Given the description of an element on the screen output the (x, y) to click on. 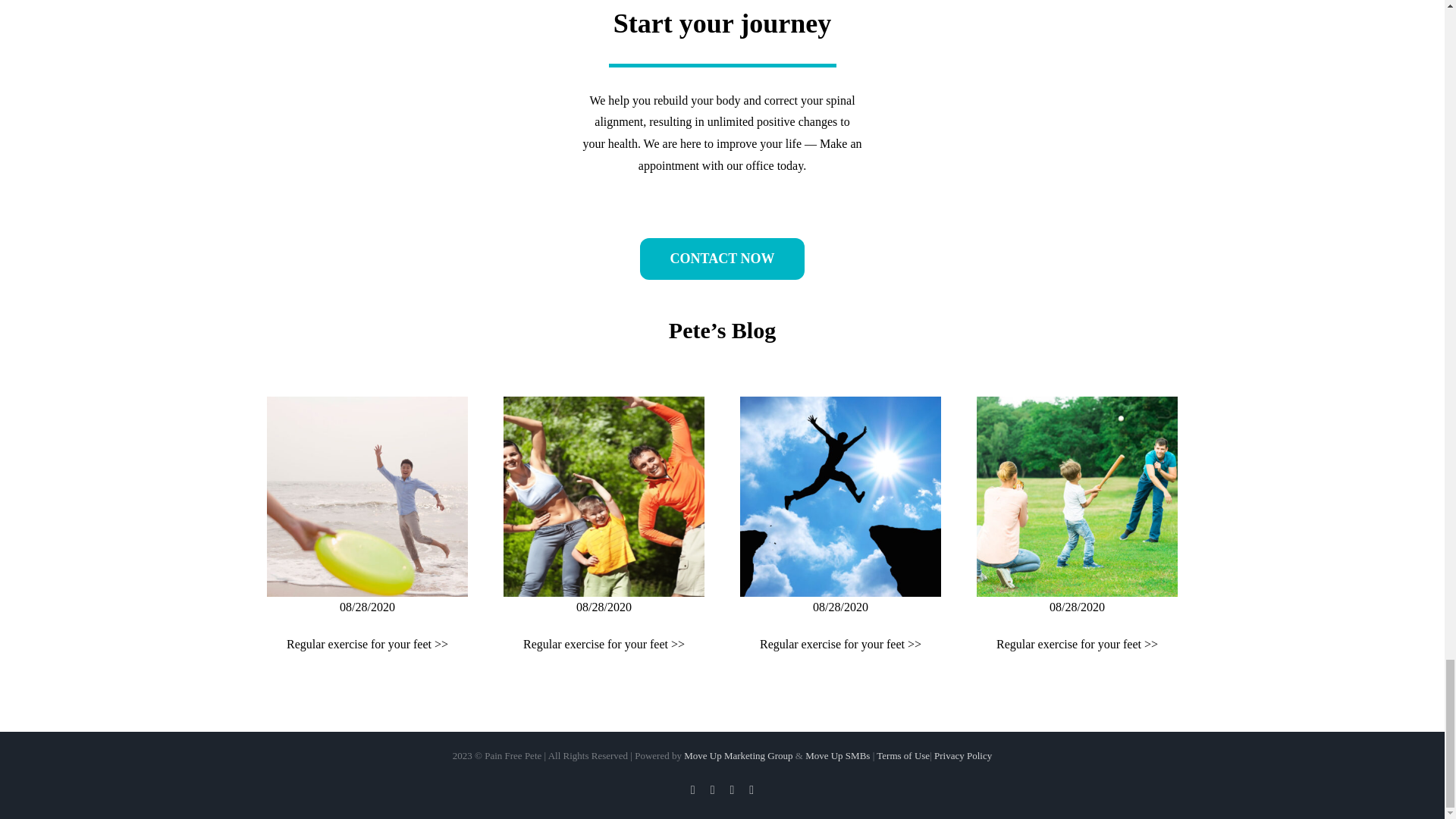
Pete-4 (366, 496)
bbb (603, 496)
